Given the description of an element on the screen output the (x, y) to click on. 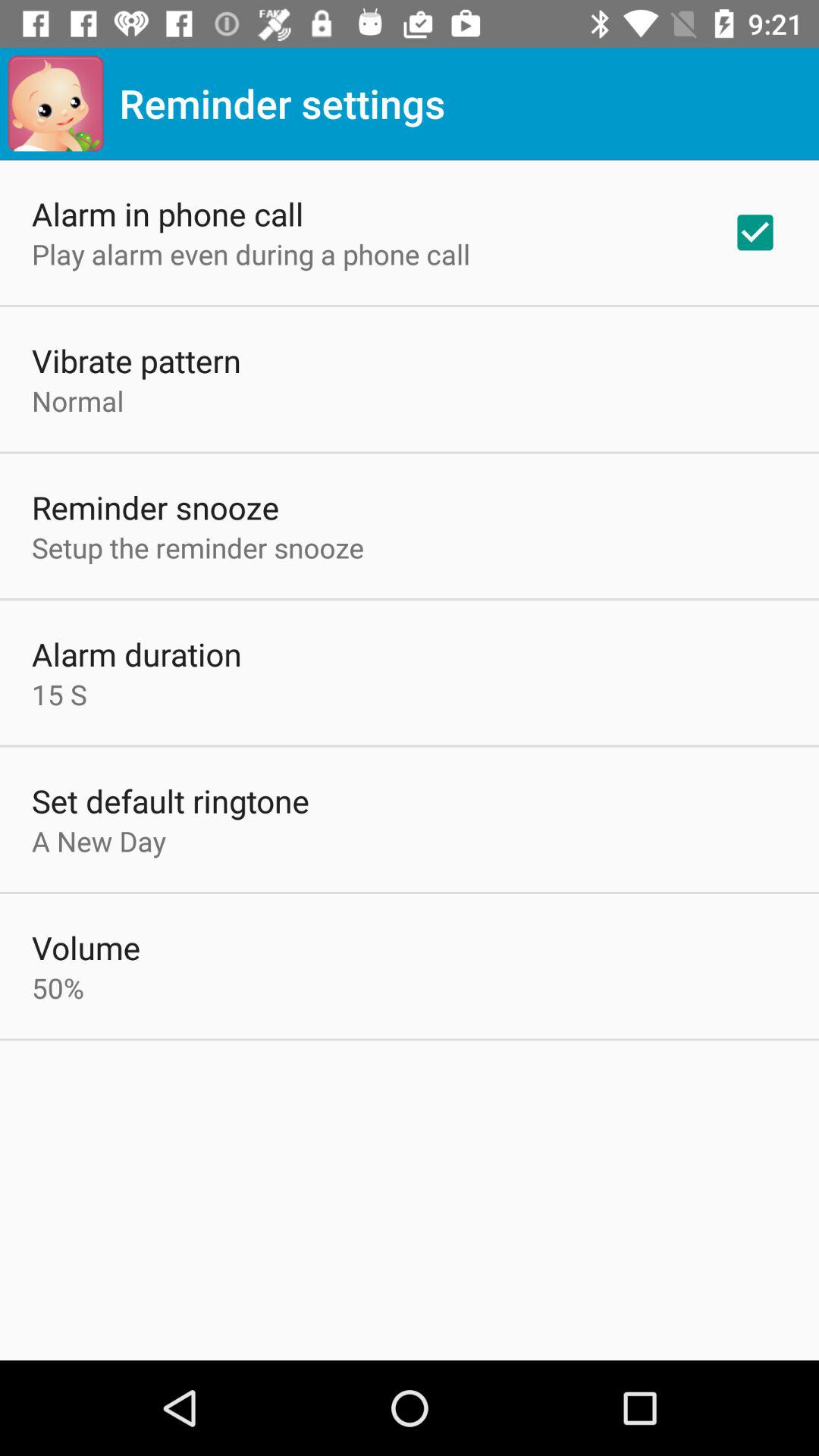
click the icon above the reminder snooze app (77, 400)
